Given the description of an element on the screen output the (x, y) to click on. 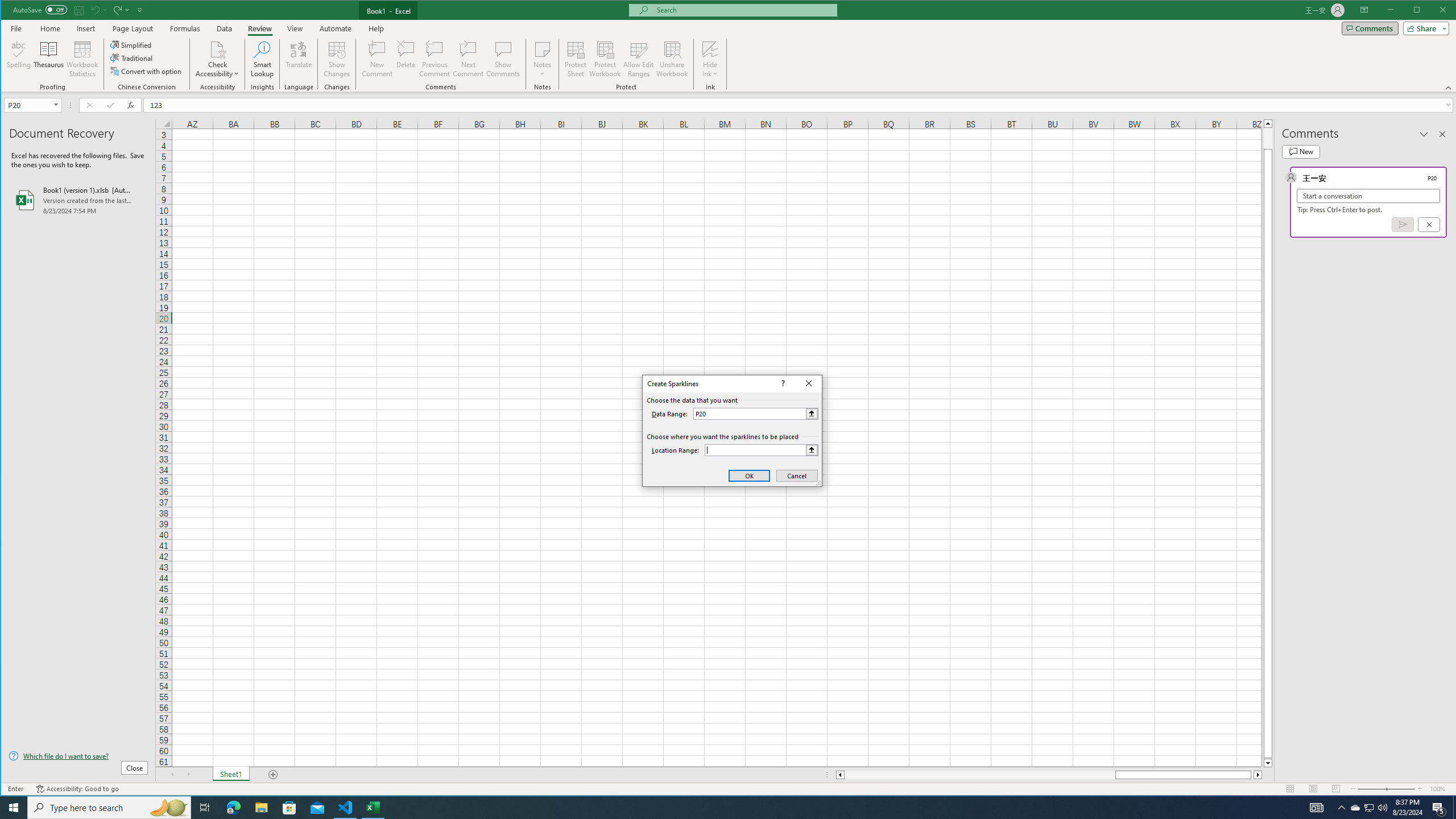
Running applications (717, 807)
Notes (541, 59)
Smart Lookup (261, 59)
Excel - 1 running window (373, 807)
Task View (204, 807)
Microsoft Edge (233, 807)
Protect Sheet... (575, 59)
Data Range (755, 413)
